Given the description of an element on the screen output the (x, y) to click on. 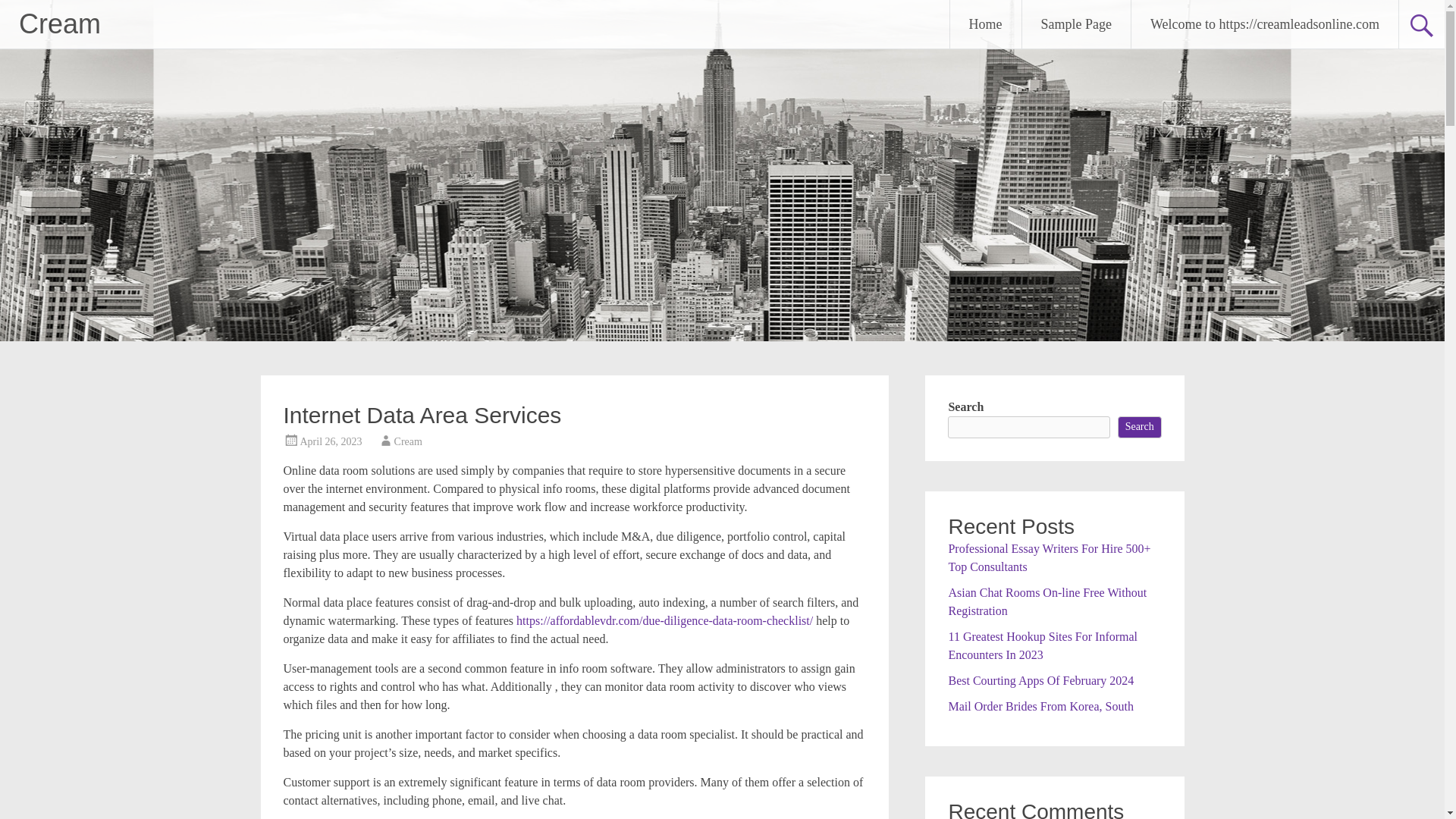
Cream (408, 441)
Cream (59, 23)
11 Greatest Hookup Sites For Informal Encounters In 2023 (1042, 644)
Asian Chat Rooms On-line Free Without Registration (1047, 600)
Cream (59, 23)
April 26, 2023 (330, 441)
Best Courting Apps Of February 2024 (1040, 679)
Mail Order Brides From Korea, South (1039, 705)
Sample Page (1076, 24)
Home (986, 24)
Search (1139, 427)
